Given the description of an element on the screen output the (x, y) to click on. 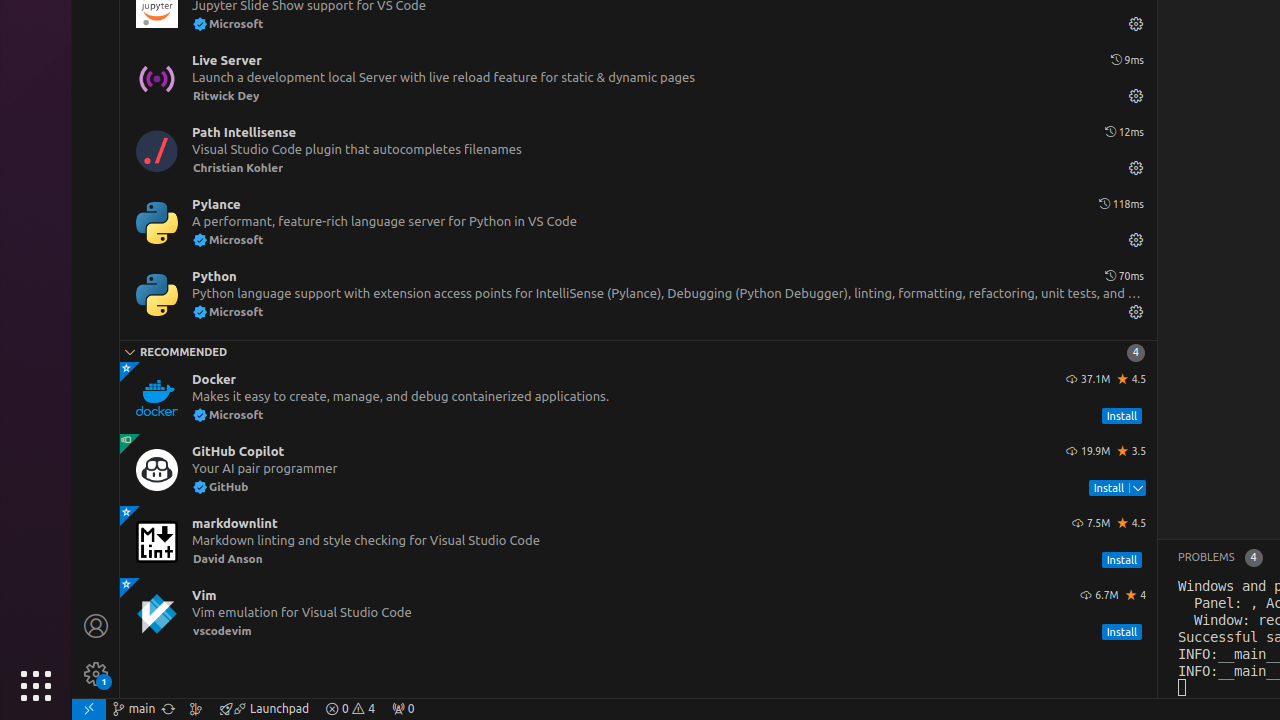
Warnings: 4 Element type: push-button (350, 709)
Vim, 1.28.1, Publisher vscodevim, Vim emulation for Visual Studio Code , Rated 4.10 out of 5 stars by 370 users Element type: list-item (638, 614)
Live Server, 5.7.9, Publisher Ritwick Dey, Launch a development local Server with live reload feature for static & dynamic pages , Rated 4.37 out of 5 stars by 491 users Element type: list-item (638, 78)
Show the GitLens Commit Graph Element type: push-button (196, 709)
